Given the description of an element on the screen output the (x, y) to click on. 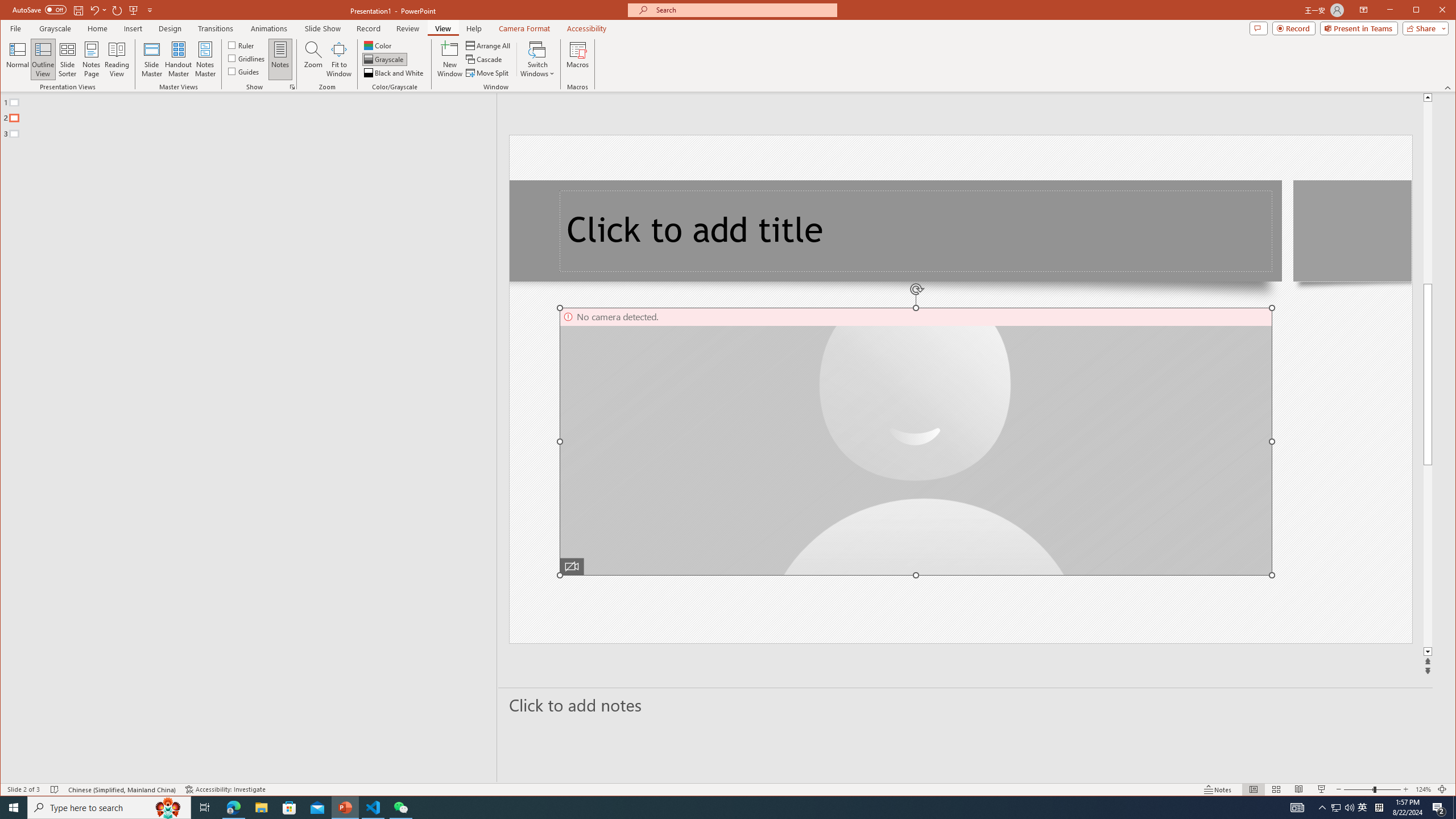
Running applications (707, 807)
Camera Format (524, 28)
AutomationID: 4105 (1297, 807)
Show desktop (1362, 807)
WeChat - 1 running window (1454, 807)
Microsoft Store (400, 807)
Grayscale (289, 807)
